Given the description of an element on the screen output the (x, y) to click on. 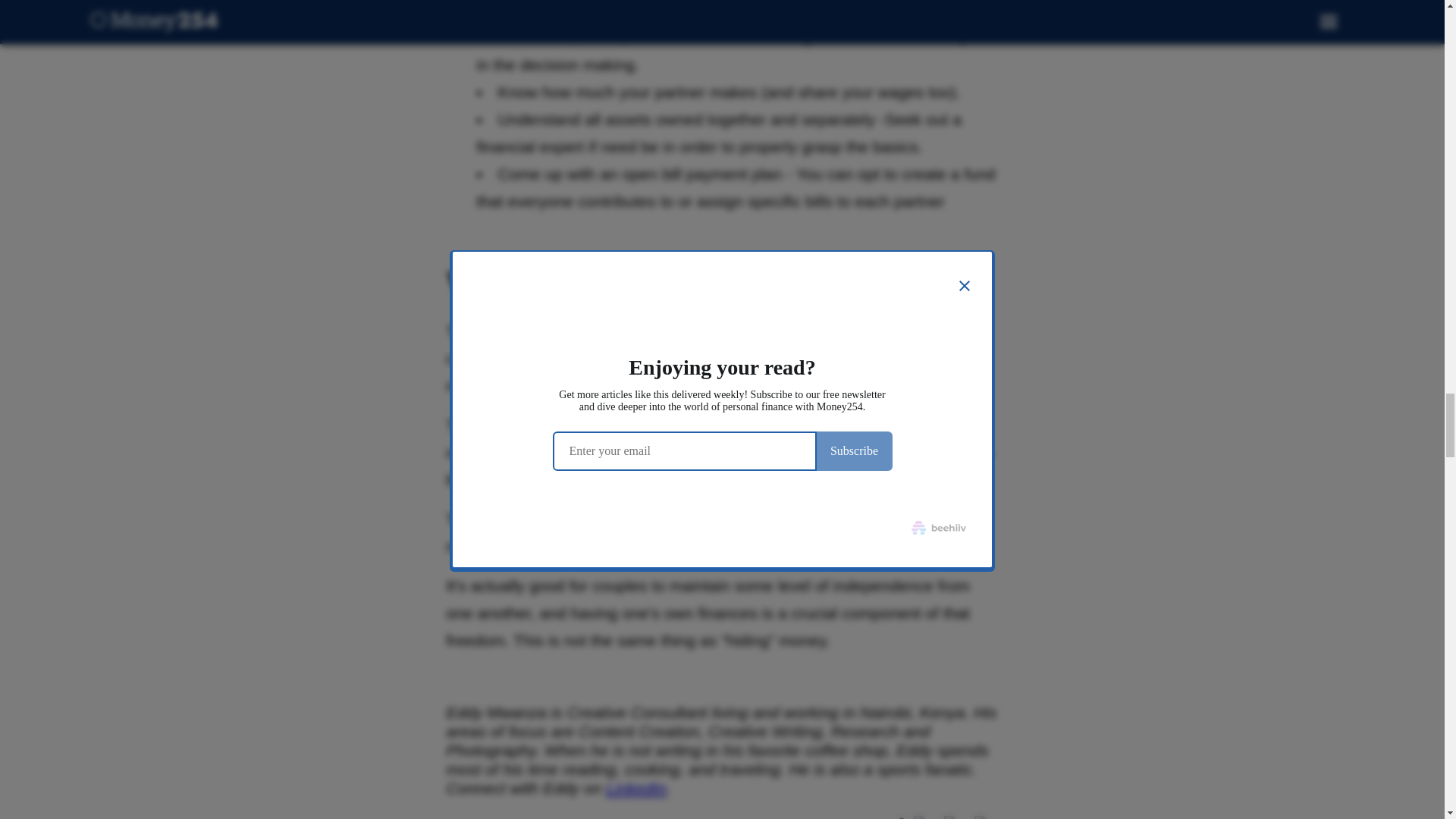
LinkedIn (635, 787)
